Given the description of an element on the screen output the (x, y) to click on. 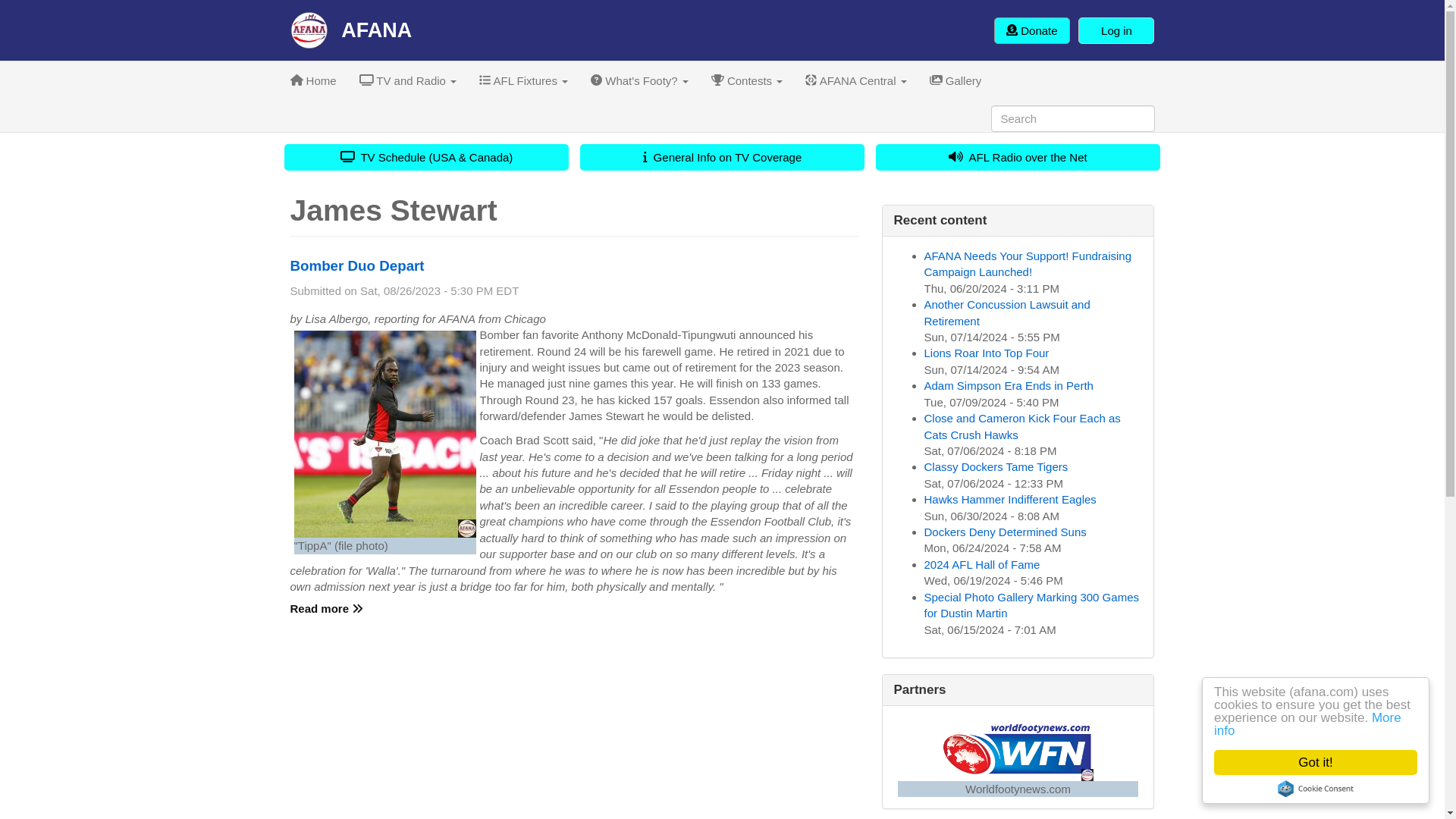
Donate (1032, 29)
More info (1321, 723)
TV and Radio (407, 80)
Home (313, 80)
What's Footy? (639, 80)
Contests (746, 80)
Got it! (1329, 762)
Aussie Rules News and Content (313, 80)
AFL Fixtures (523, 80)
Log in (1116, 29)
Home (350, 30)
Cookie Consent plugin for the EU cookie law (1329, 788)
AFANA (350, 30)
